Given the description of an element on the screen output the (x, y) to click on. 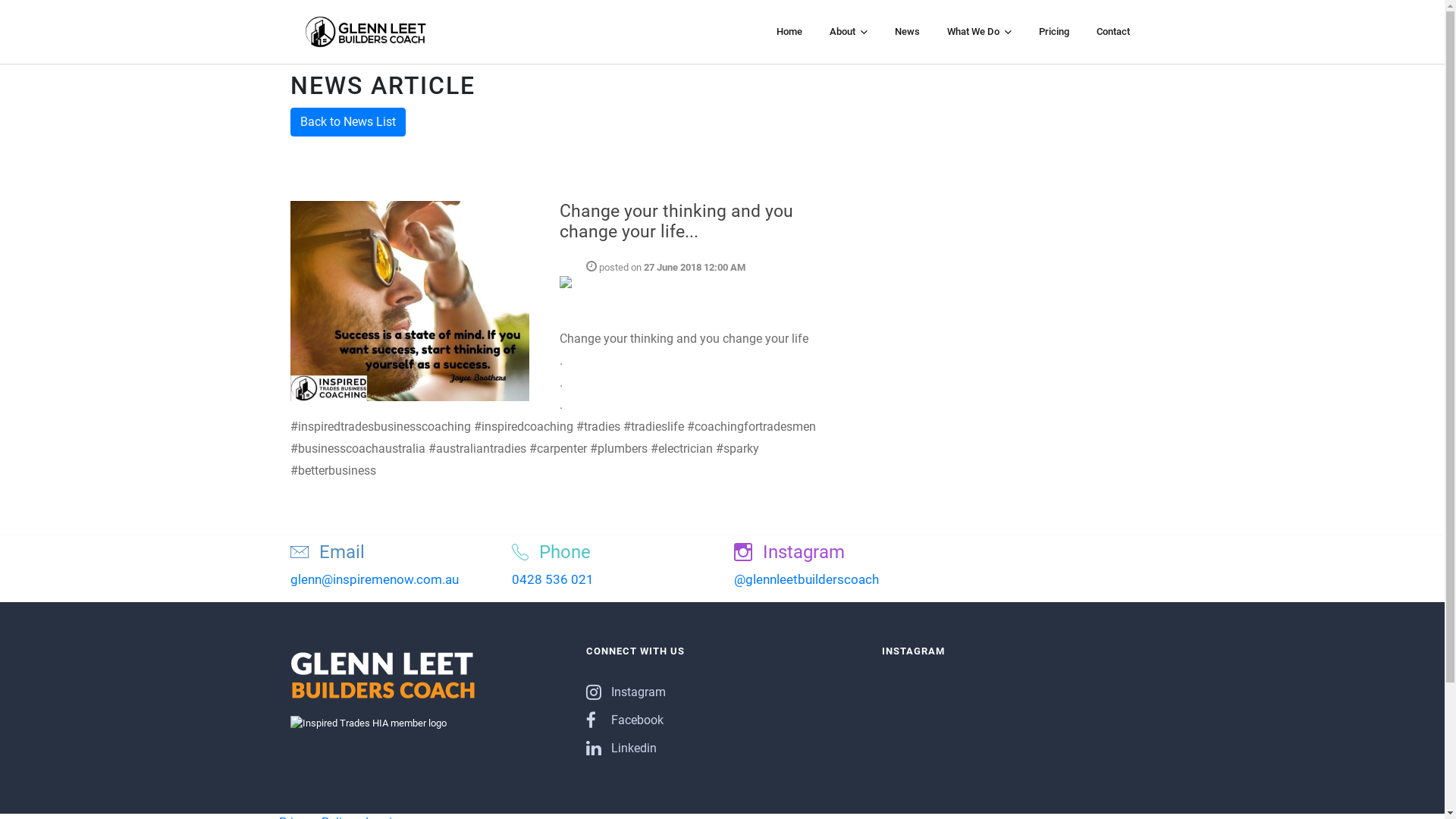
Pricing Element type: text (1053, 31)
What We Do Element type: text (978, 31)
Home Element type: text (788, 31)
About Element type: text (848, 31)
@glennleetbuilderscoach Element type: text (806, 578)
Linkedin Element type: text (620, 747)
0428 536 021 Element type: text (552, 578)
Back to News List Element type: text (346, 121)
Facebook Element type: text (623, 719)
Contact Element type: text (1112, 31)
glenn@inspiremenow.com.au Element type: text (373, 578)
Instagram Element type: text (625, 691)
News Element type: text (907, 31)
